Given the description of an element on the screen output the (x, y) to click on. 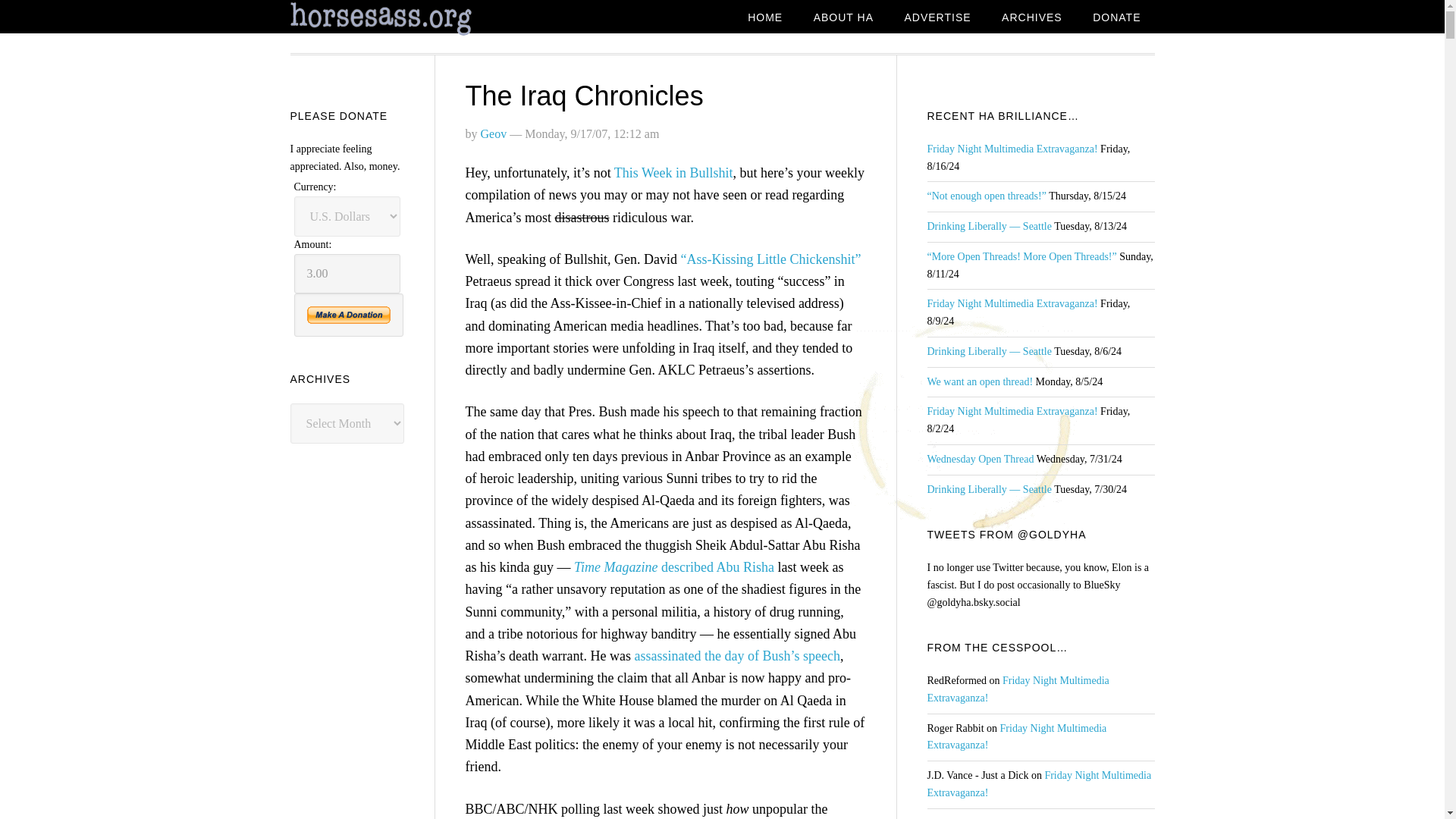
ABOUT HA (842, 17)
Time Magazine described Abu Risha (673, 566)
The amount you wish to donate (347, 273)
HORSESASS.ORG (410, 19)
ARCHIVES (1031, 17)
Geov (493, 133)
HOME (764, 17)
ADVERTISE (936, 17)
This Week in Bullshit (673, 172)
3.00 (347, 273)
